Given the description of an element on the screen output the (x, y) to click on. 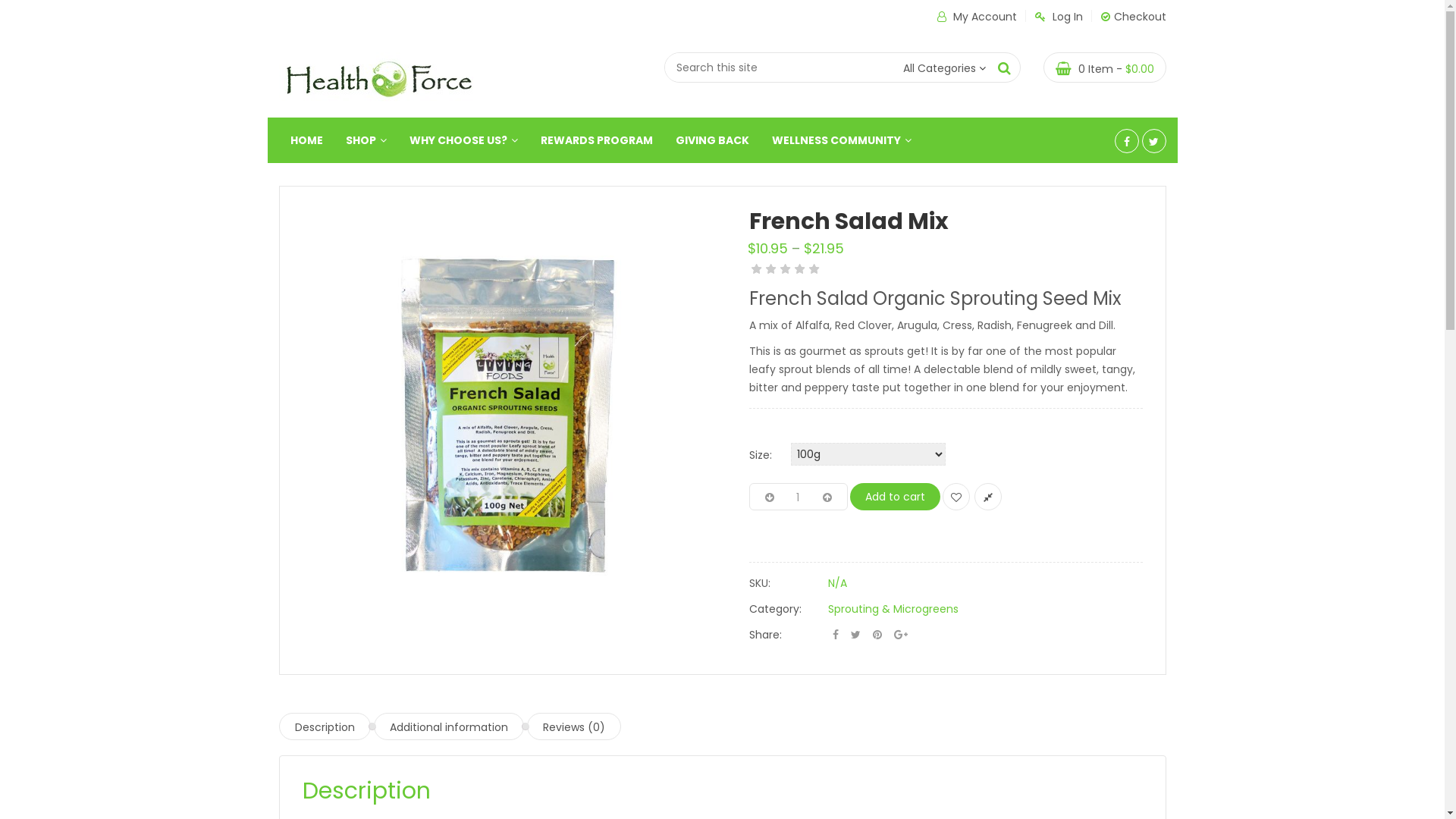
HOME Element type: text (306, 140)
french salad seeds 100g Element type: hover (505, 413)
Description Element type: text (324, 726)
Qty Element type: hover (797, 497)
My Account Element type: text (976, 16)
Add to cart Element type: text (894, 496)
Checkout Element type: text (1133, 16)
WHY CHOOSE US? Element type: text (462, 140)
Additional information Element type: text (448, 726)
Log In Element type: text (1058, 16)
0 Item - $0.00 Element type: text (1104, 67)
REWARDS PROGRAM Element type: text (596, 140)
Sprouting & Microgreens Element type: text (893, 608)
All Categories Element type: text (938, 68)
SHOP Element type: text (365, 140)
GIVING BACK Element type: text (712, 140)
Reviews (0) Element type: text (573, 726)
WELLNESS COMMUNITY Element type: text (840, 140)
